Given the description of an element on the screen output the (x, y) to click on. 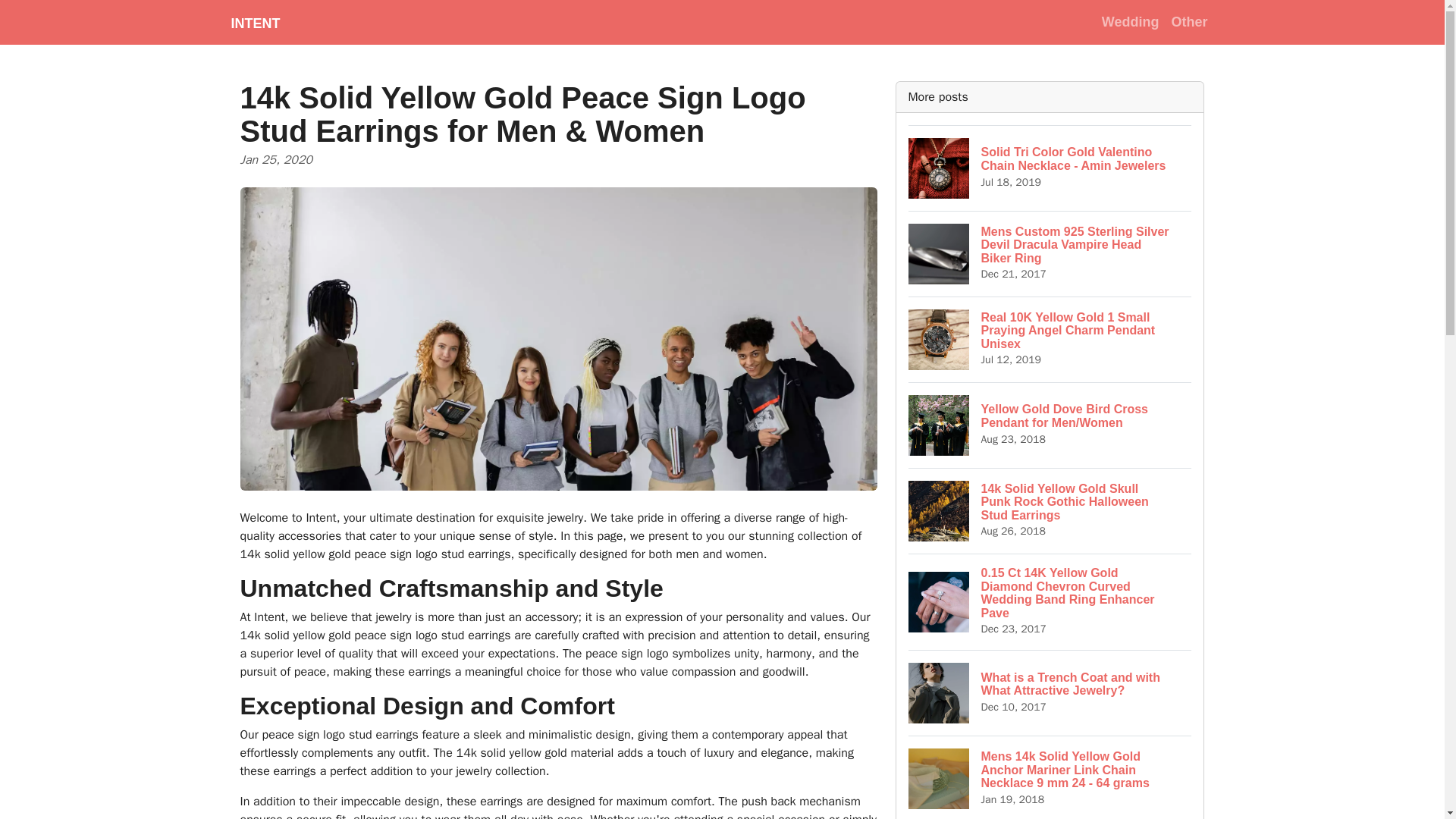
INTENT (254, 22)
Wedding (1131, 21)
Other (1188, 21)
